Given the description of an element on the screen output the (x, y) to click on. 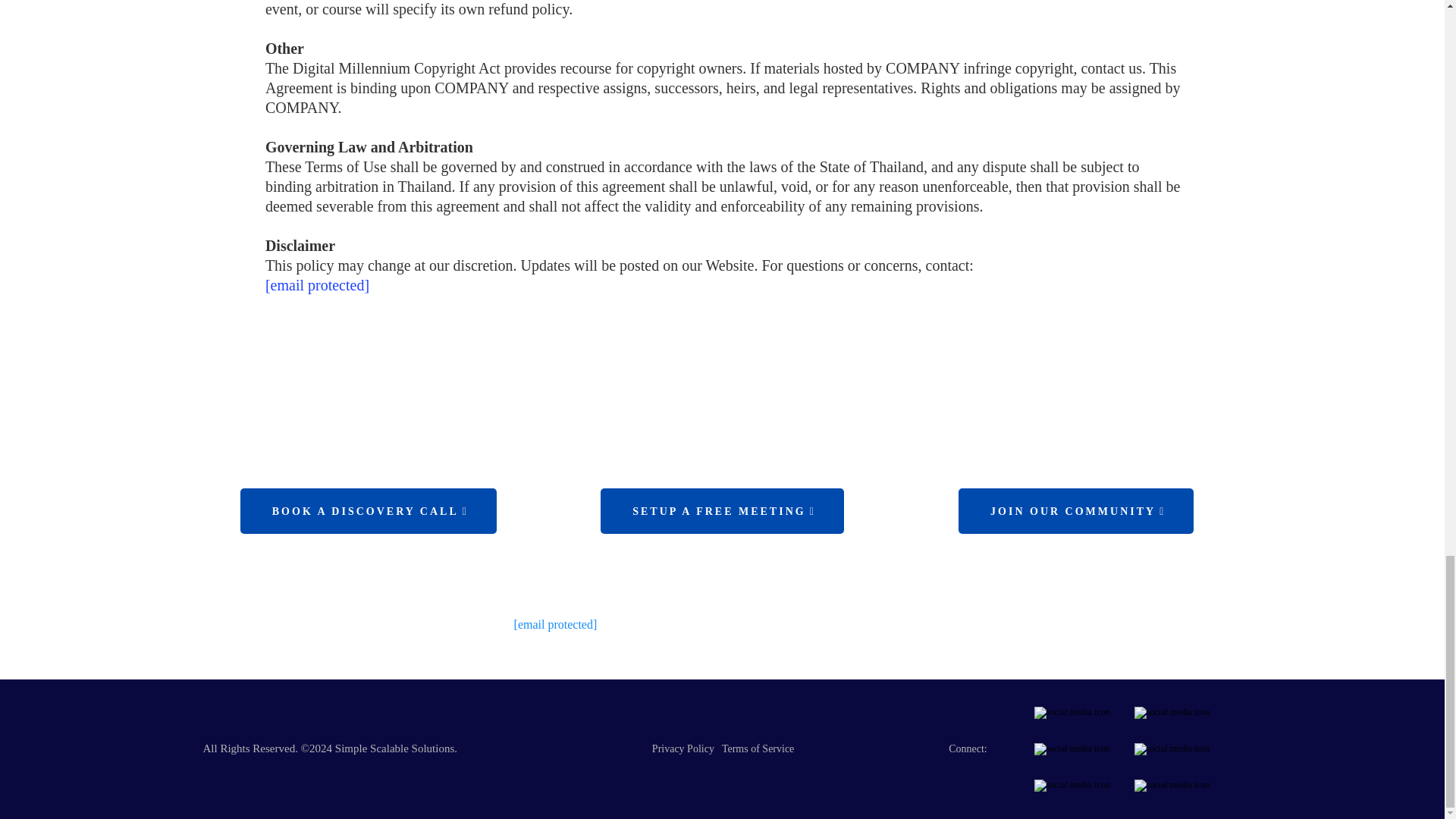
Privacy Policy (683, 748)
Terms of Service (757, 748)
JOIN OUR COMMUNITY (1075, 510)
SETUP A FREE MEETING (721, 510)
BOOK A DISCOVERY CALL (368, 510)
